Given the description of an element on the screen output the (x, y) to click on. 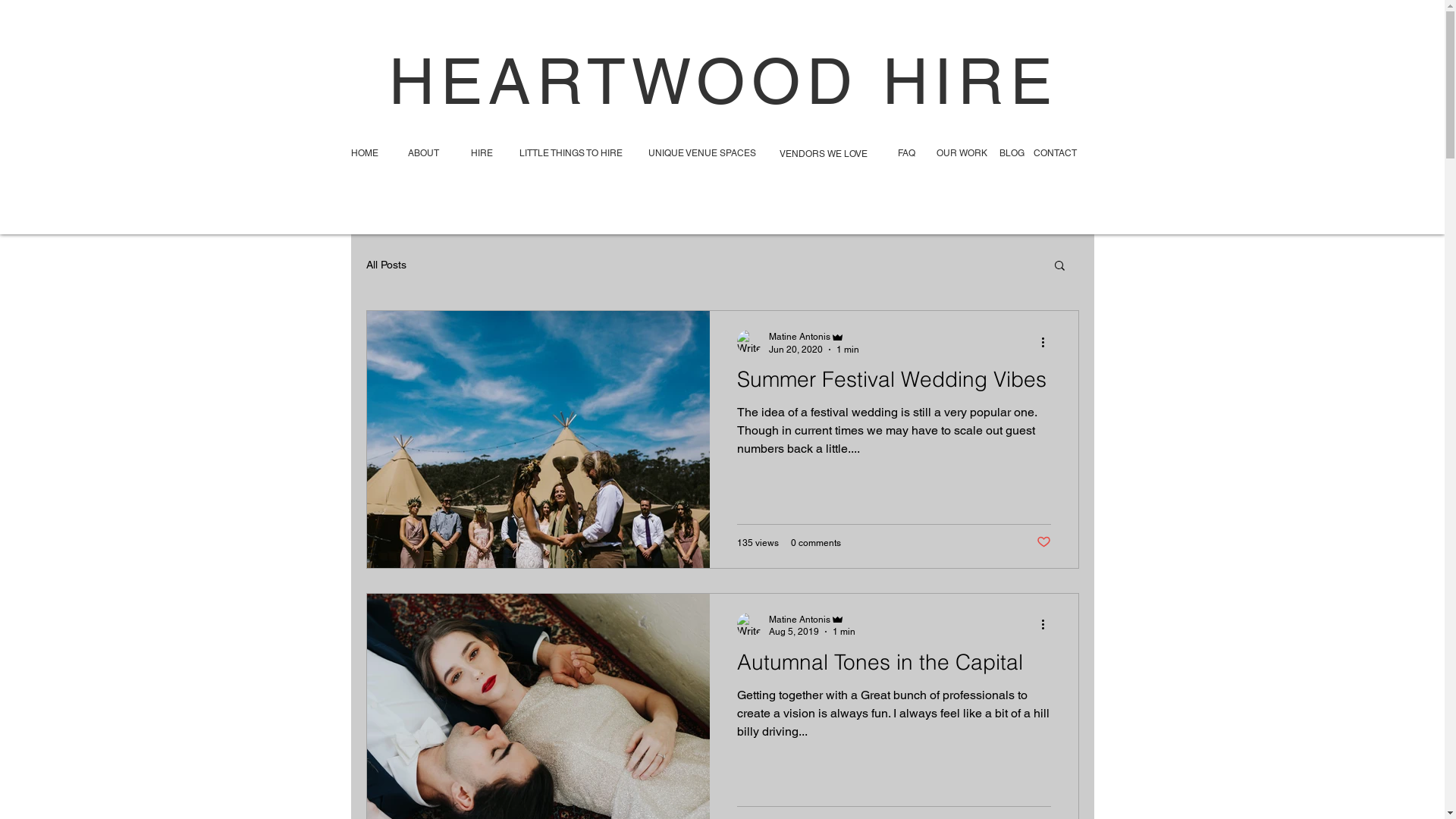
HOME Element type: text (363, 153)
0 comments Element type: text (815, 541)
Matine Antonis Element type: text (811, 618)
BLOG Element type: text (1012, 153)
VENDORS WE LOVE Element type: text (822, 153)
Matine Antonis Element type: text (813, 336)
Post not marked as liked Element type: text (1042, 542)
Autumnal Tones in the Capital Element type: text (894, 665)
ABOUT Element type: text (423, 153)
All Posts Element type: text (385, 264)
CONTACT Element type: text (1054, 153)
UNIQUE VENUE SPACES Element type: text (701, 153)
Summer Festival Wedding Vibes Element type: text (894, 383)
HIRE Element type: text (481, 153)
FAQ Element type: text (912, 153)
LITTLE THINGS TO HIRE Element type: text (570, 153)
OUR WORK Element type: text (963, 153)
